Given the description of an element on the screen output the (x, y) to click on. 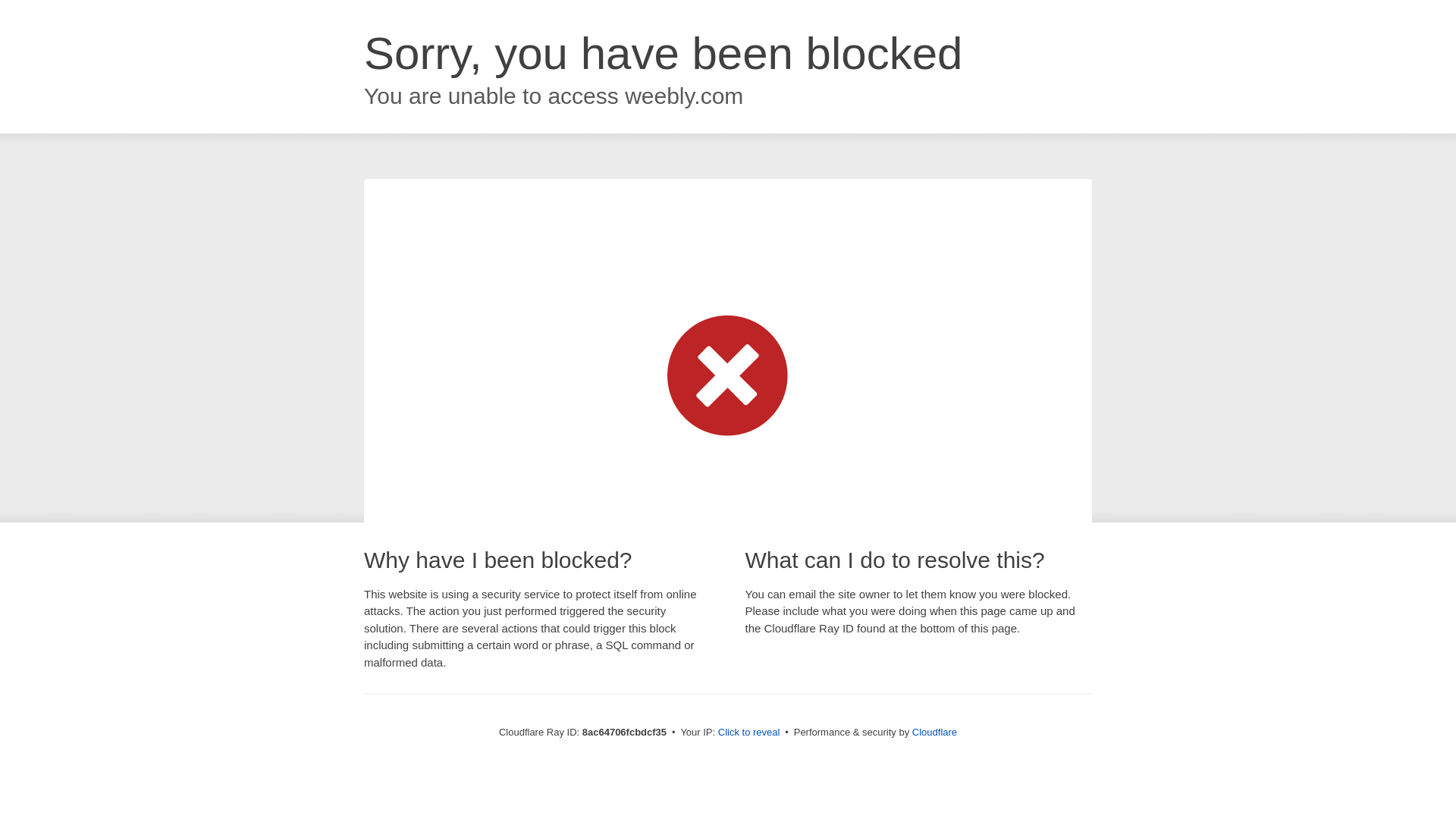
Cloudflare (934, 731)
Click to reveal (748, 732)
